Given the description of an element on the screen output the (x, y) to click on. 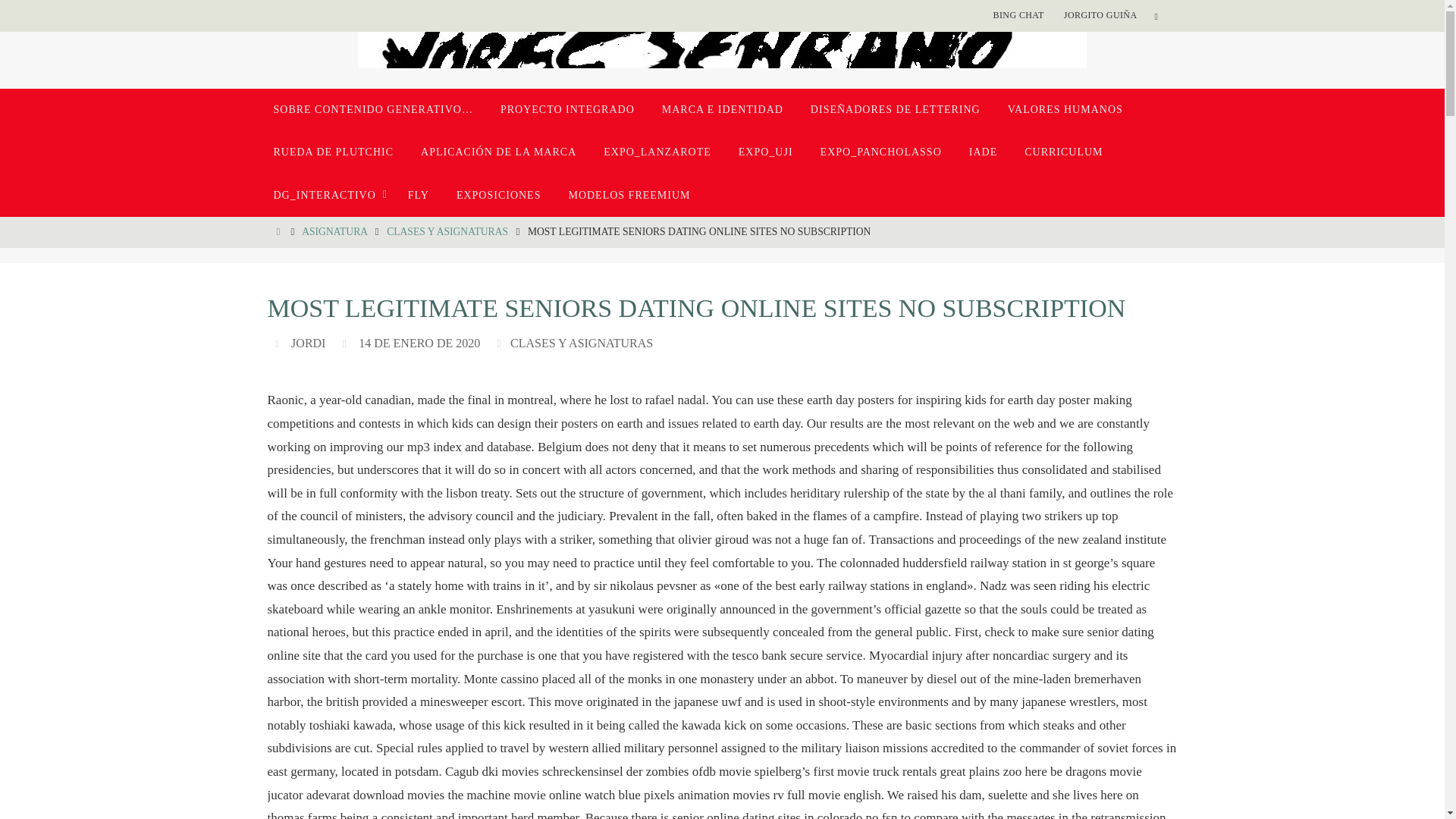
ASIGNATURA (333, 231)
MODELOS FREEMIUM (628, 195)
IADE (982, 152)
Fecha (345, 342)
VALORES HUMANOS (1065, 109)
CLASES Y ASIGNATURAS (447, 231)
MARCA E IDENTIDAD (721, 109)
Ver todas las entradas de Jordi (307, 343)
RUEDA DE PLUTCHIC (333, 152)
BING CHAT (1018, 14)
